Given the description of an element on the screen output the (x, y) to click on. 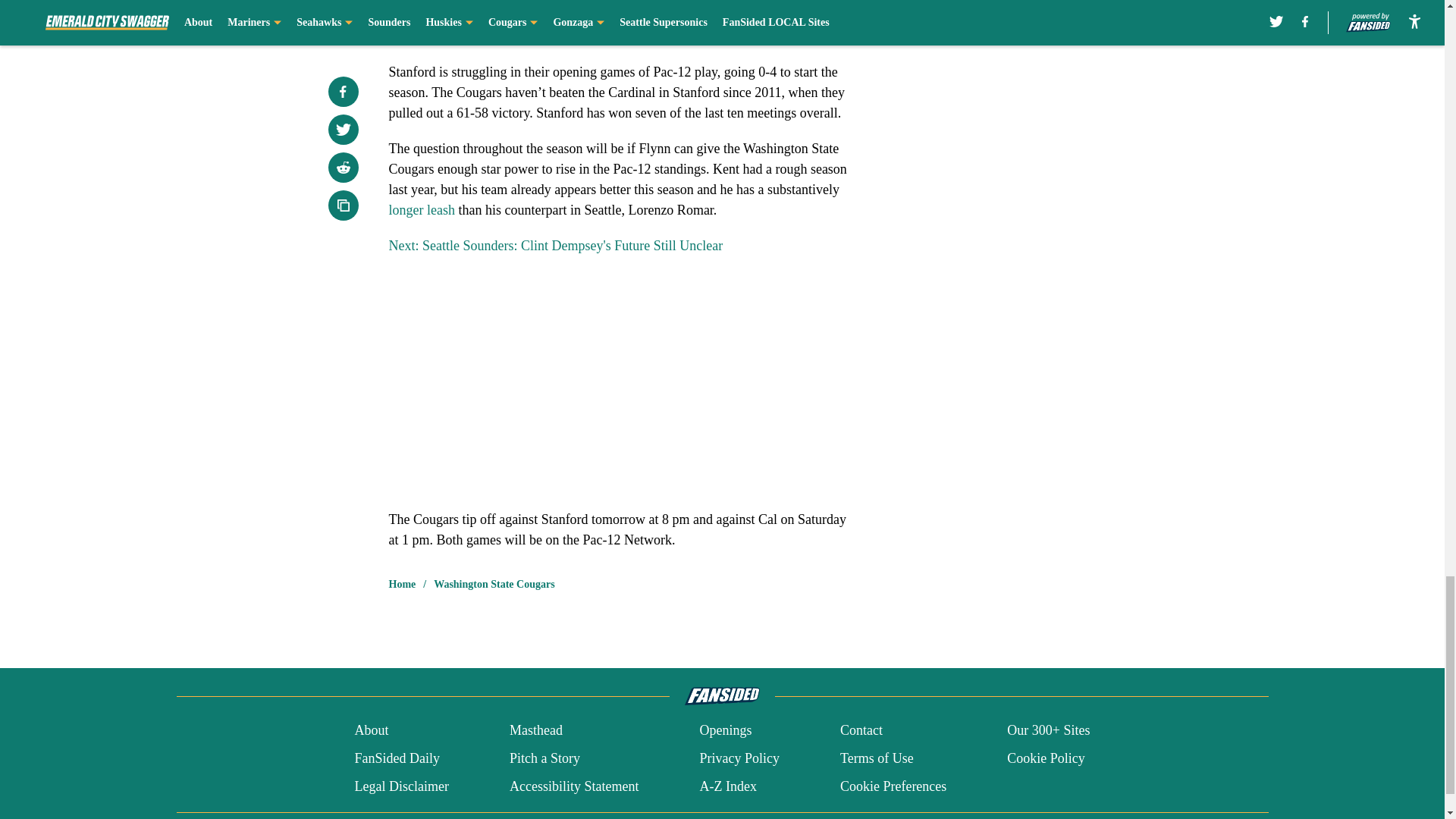
Next: Seattle Sounders: Clint Dempsey's Future Still Unclear (555, 245)
Washington State Cougars (493, 584)
Home (401, 584)
About (370, 730)
longer leash (421, 209)
